Given the description of an element on the screen output the (x, y) to click on. 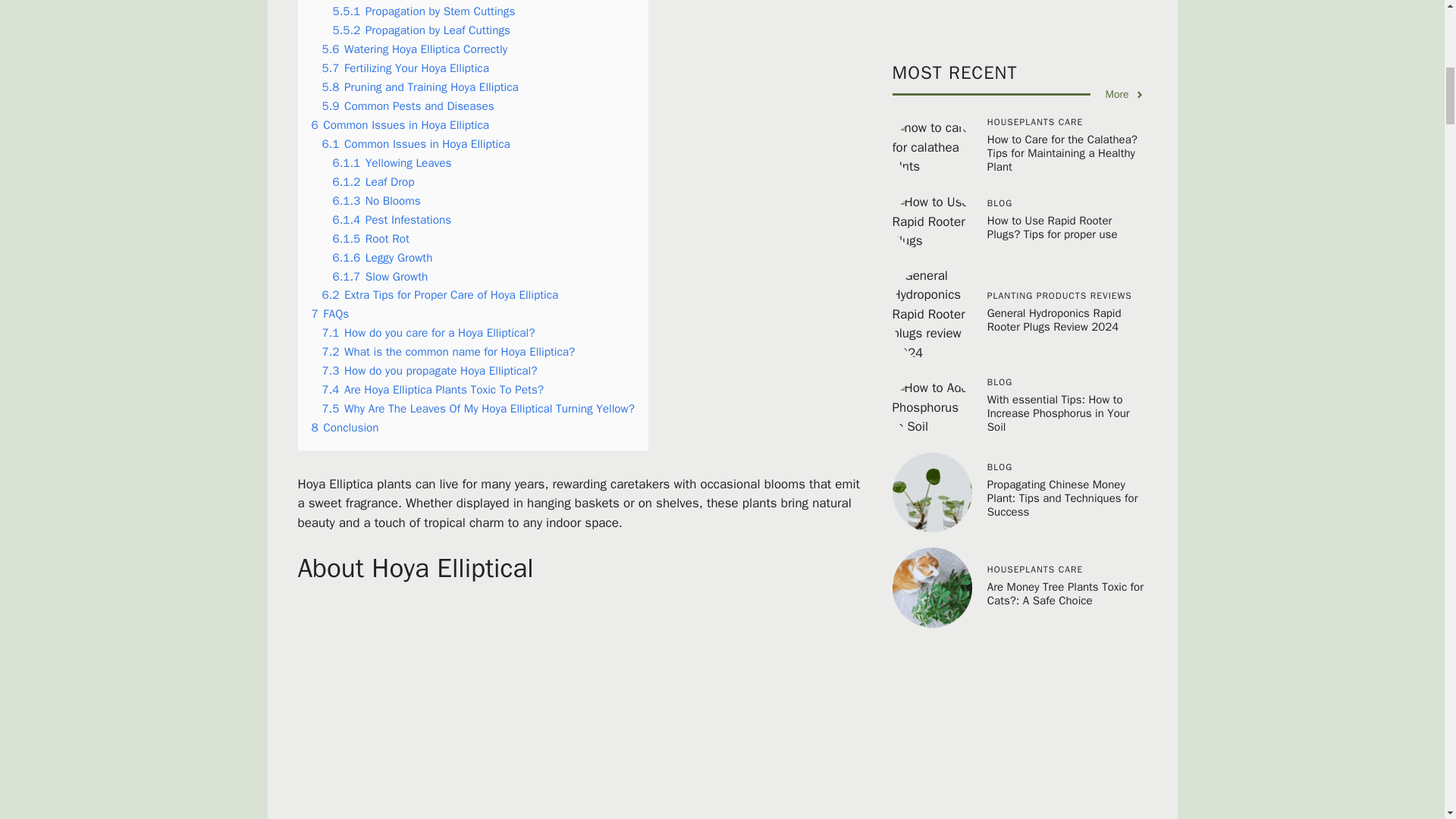
5.7 Fertilizing Your Hoya Elliptica (404, 68)
5.5.1 Propagation by Stem Cuttings (423, 11)
5.8 Pruning and Training Hoya Elliptica (419, 87)
5.5.2 Propagation by Leaf Cuttings (421, 29)
5.6 Watering Hoya Elliptica Correctly (413, 48)
